Given the description of an element on the screen output the (x, y) to click on. 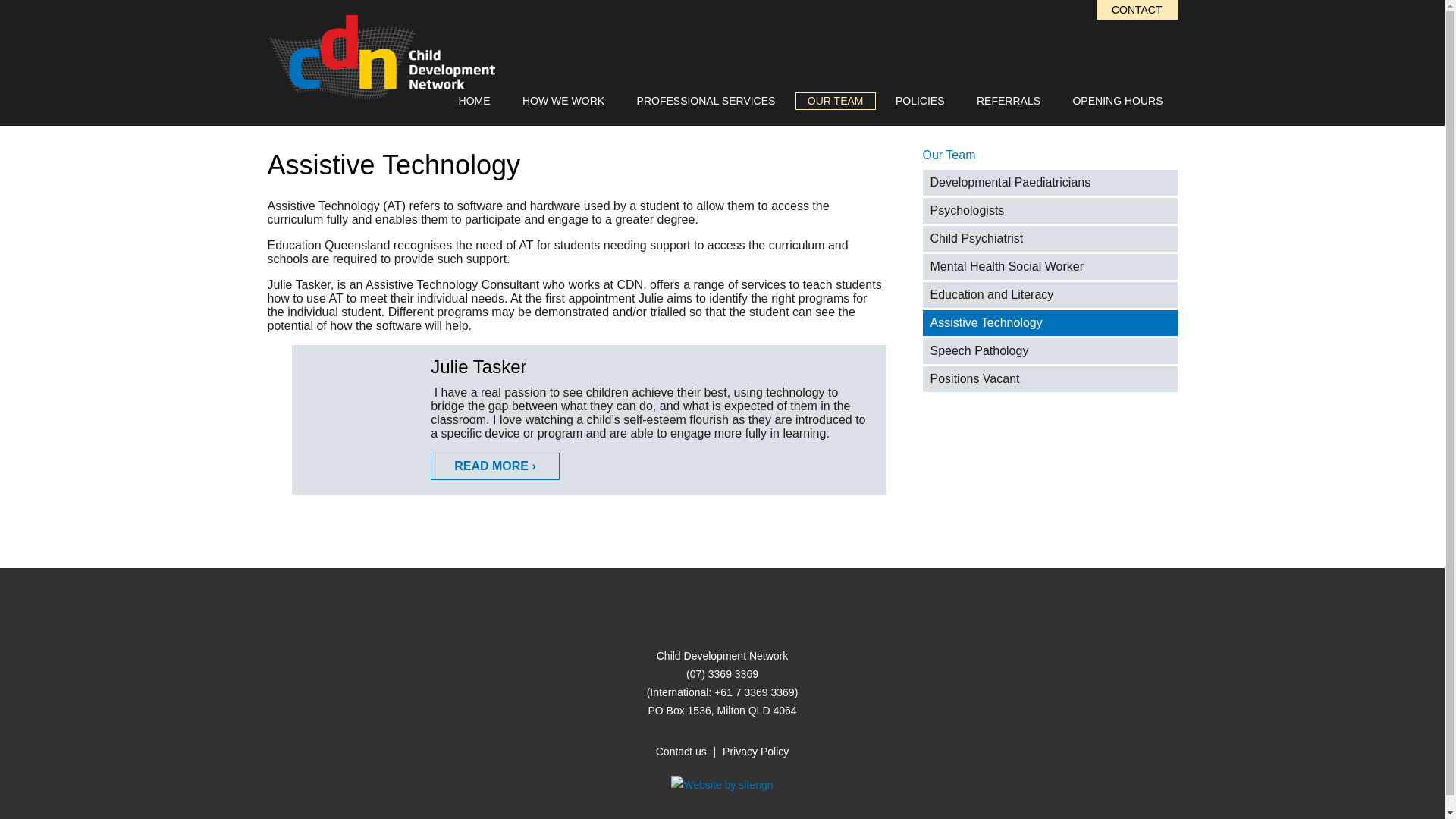
OPENING HOURS (1116, 100)
CONTACT (1136, 9)
HOME (474, 100)
HOW WE WORK (563, 100)
OUR TEAM (835, 100)
POLICIES (919, 100)
REFERRALS (1007, 100)
PROFESSIONAL SERVICES (705, 100)
